Given the description of an element on the screen output the (x, y) to click on. 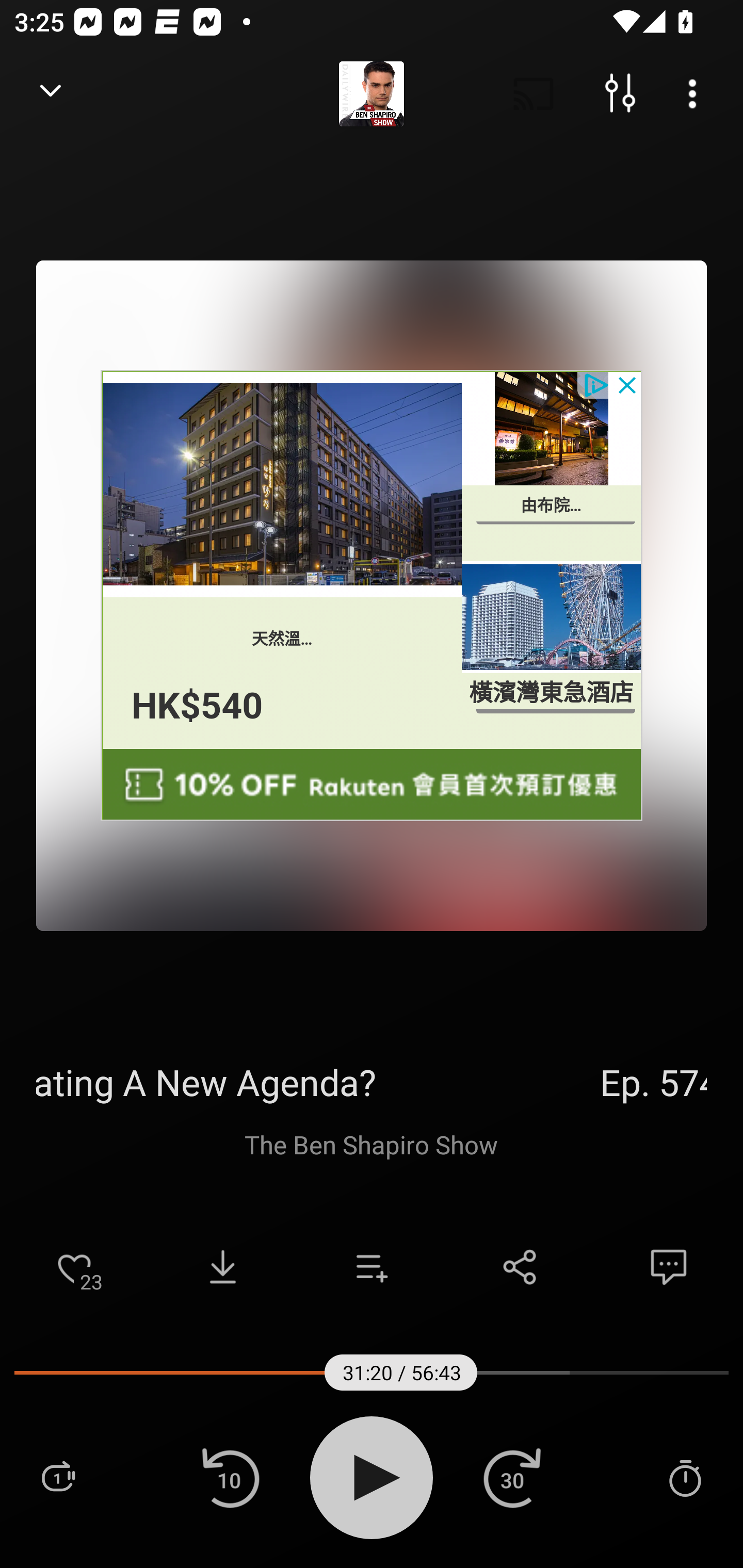
Cast. Disconnected (533, 93)
 Back (50, 94)
 由布院溫泉由布院山… 立即預訂    由布院…    立即預… (552, 466)
privacy_small (595, 384)
close_button (627, 384)
 橫濱灣東急酒店 立即預訂    橫濱灣東急酒店    立即預訂 (552, 656)
   (371, 785)
Ep. 574 - Is The Left Creating A New Agenda? (371, 1081)
The Ben Shapiro Show (371, 1144)
Comments (668, 1266)
Add to Favorites (73, 1266)
Add to playlist (371, 1266)
Share (519, 1266)
 Playlist (57, 1477)
Sleep Timer  (684, 1477)
